Given the description of an element on the screen output the (x, y) to click on. 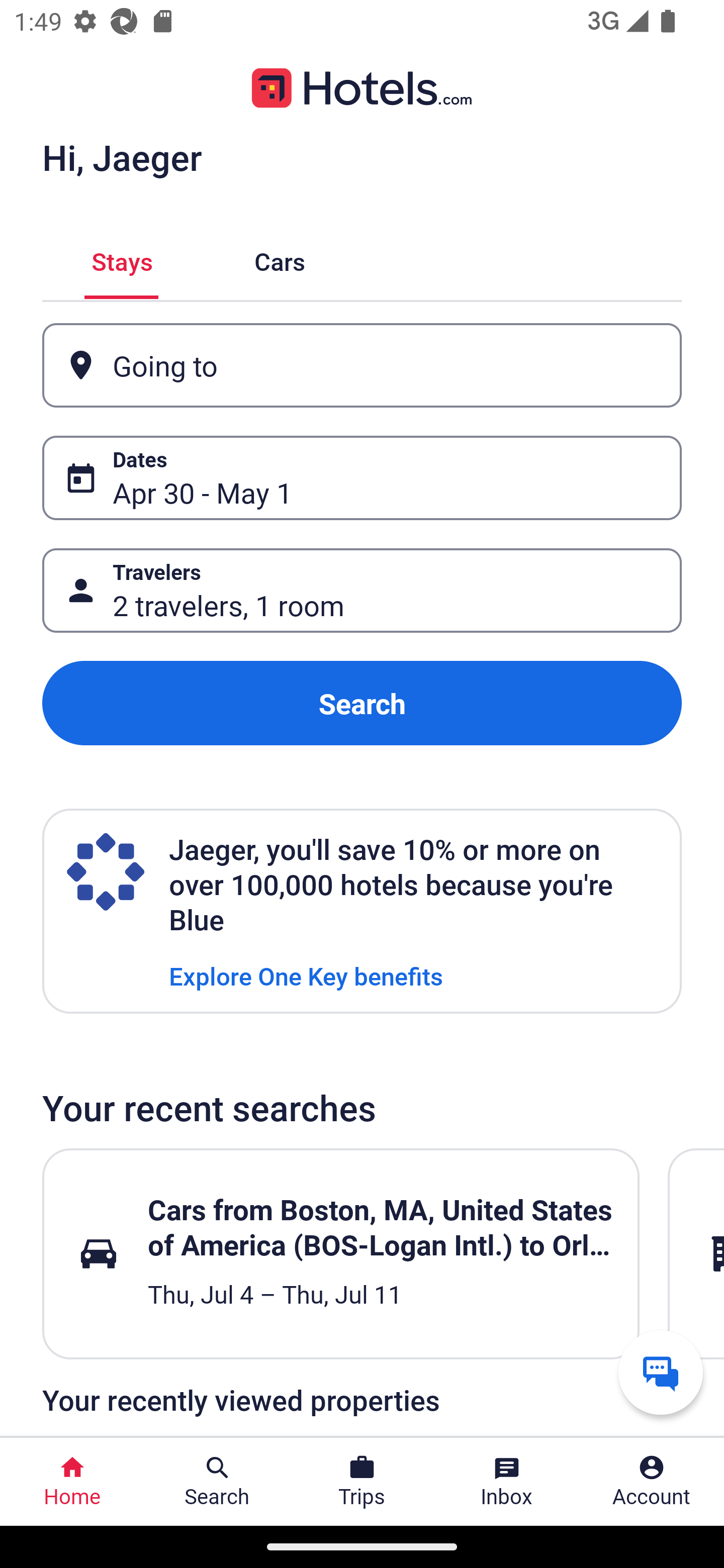
Hi, Jaeger (121, 156)
Cars (279, 259)
Going to Button (361, 365)
Dates Button Apr 30 - May 1 (361, 477)
Travelers Button 2 travelers, 1 room (361, 590)
Search (361, 702)
Get help from a virtual agent (660, 1371)
Search Search Button (216, 1481)
Trips Trips Button (361, 1481)
Inbox Inbox Button (506, 1481)
Account Profile. Button (651, 1481)
